Given the description of an element on the screen output the (x, y) to click on. 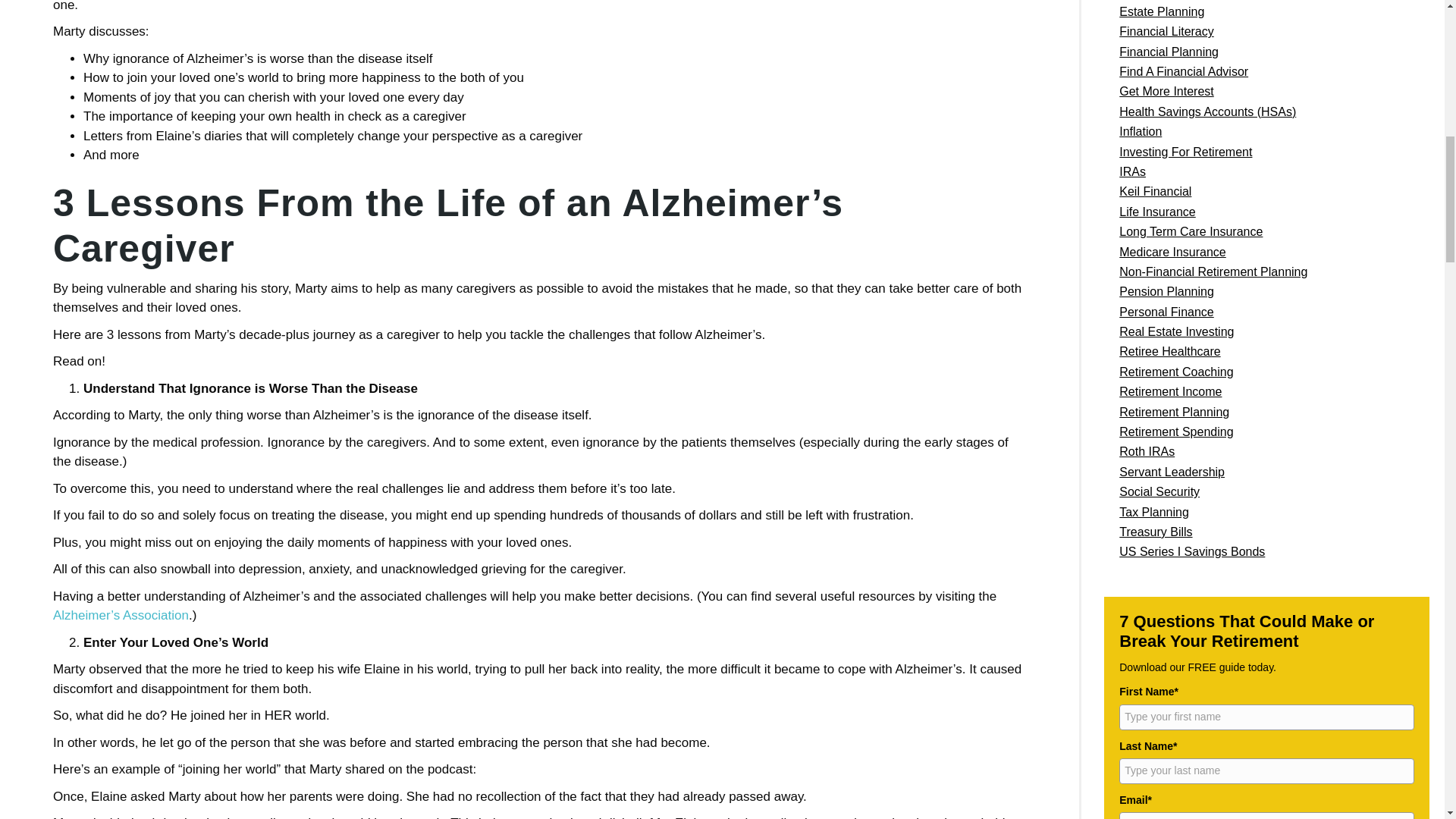
Financial Literacy (1262, 31)
Financial Planning (1262, 52)
Estate Planning (1262, 12)
